Given the description of an element on the screen output the (x, y) to click on. 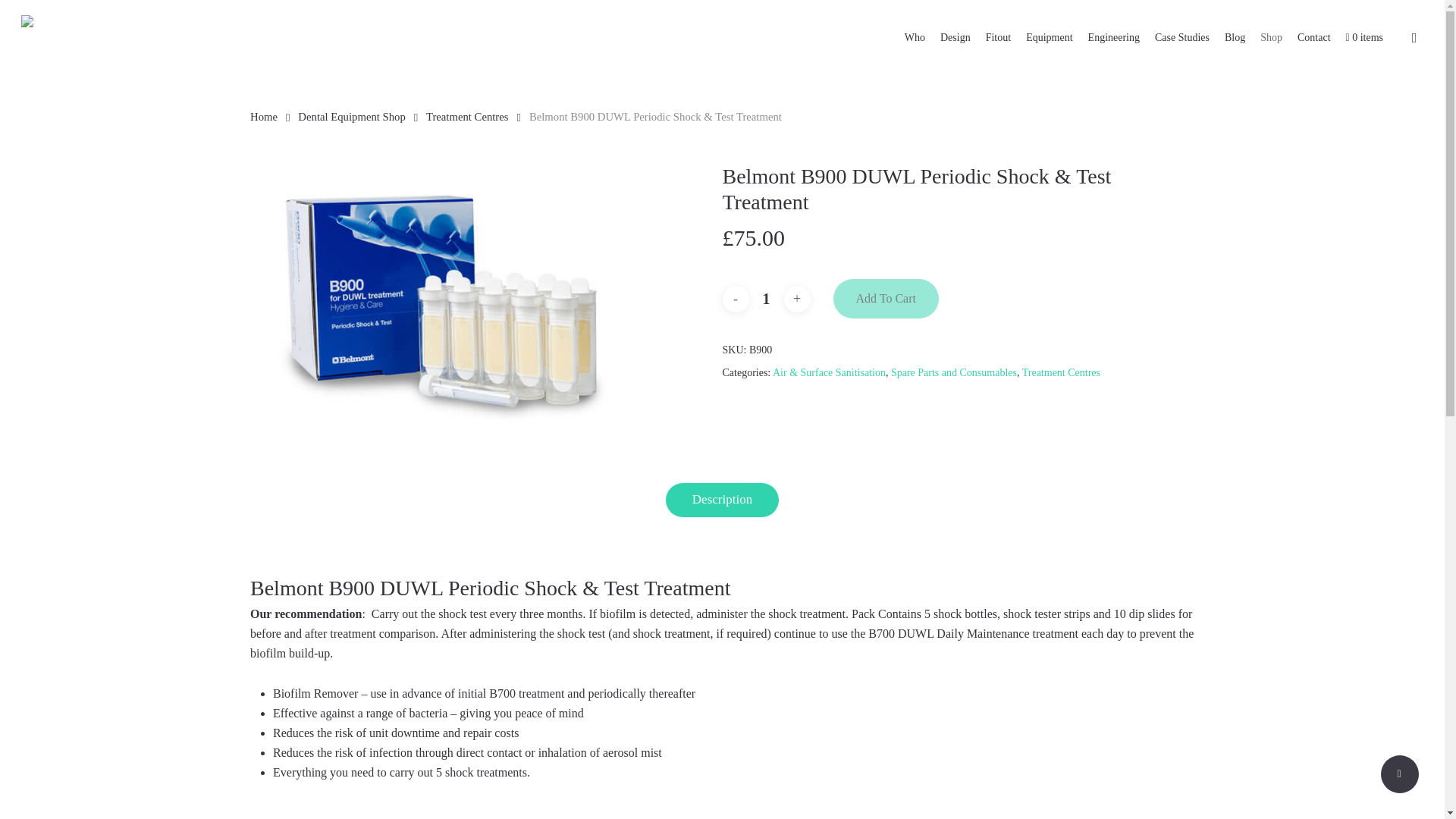
Add To Cart (884, 298)
Start shopping (1364, 37)
Home (264, 116)
B900 (440, 291)
Case Studies (1182, 37)
Spare Parts and Consumables (953, 372)
Who (914, 37)
Design (955, 37)
Shop (1271, 37)
Contact (1314, 37)
0 items (1364, 37)
Treatment Centres (1061, 372)
Blog (1234, 37)
1 (766, 298)
Equipment (1048, 37)
